Given the description of an element on the screen output the (x, y) to click on. 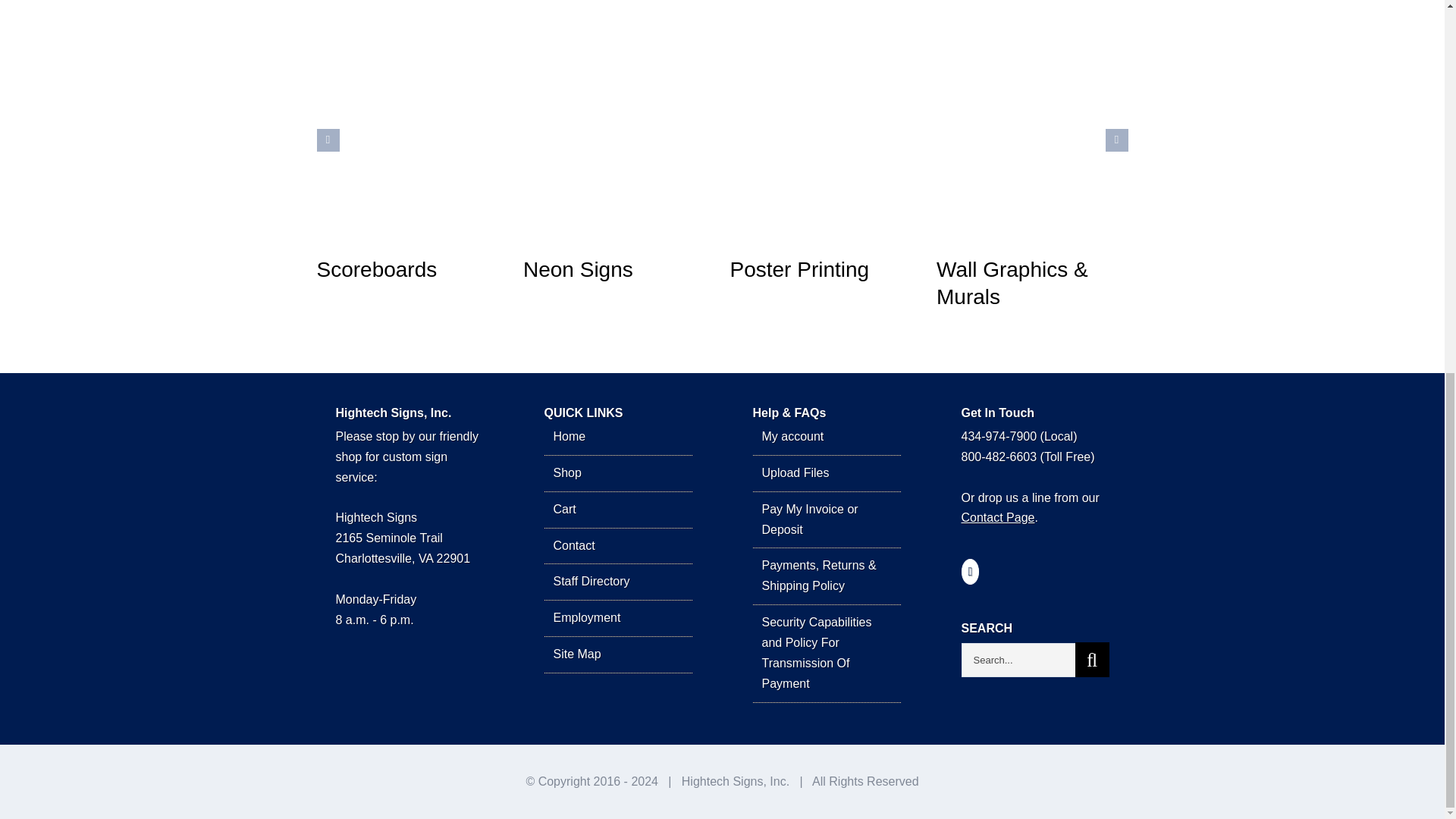
Poster Printing (799, 269)
Neon Signs (577, 269)
Scoreboards (377, 269)
